Given the description of an element on the screen output the (x, y) to click on. 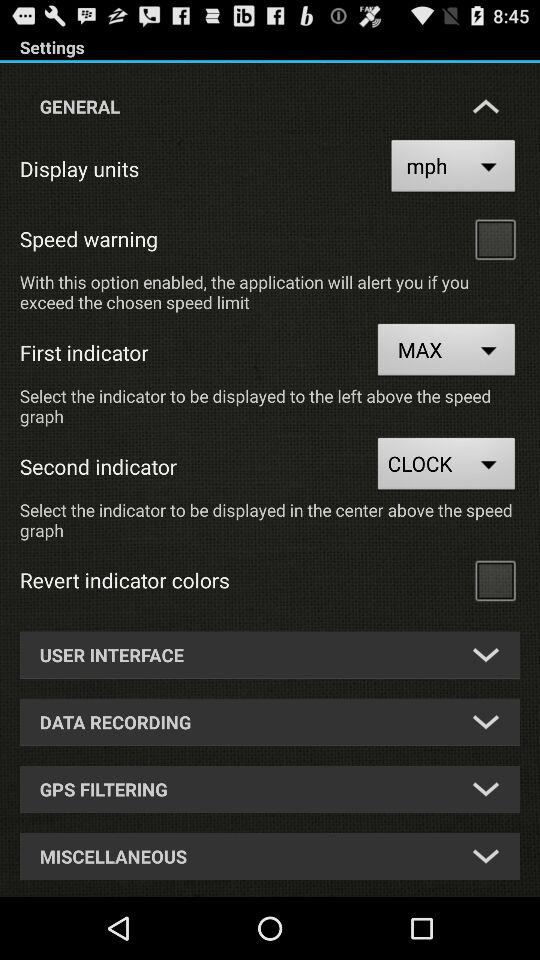
tick box (495, 238)
